Given the description of an element on the screen output the (x, y) to click on. 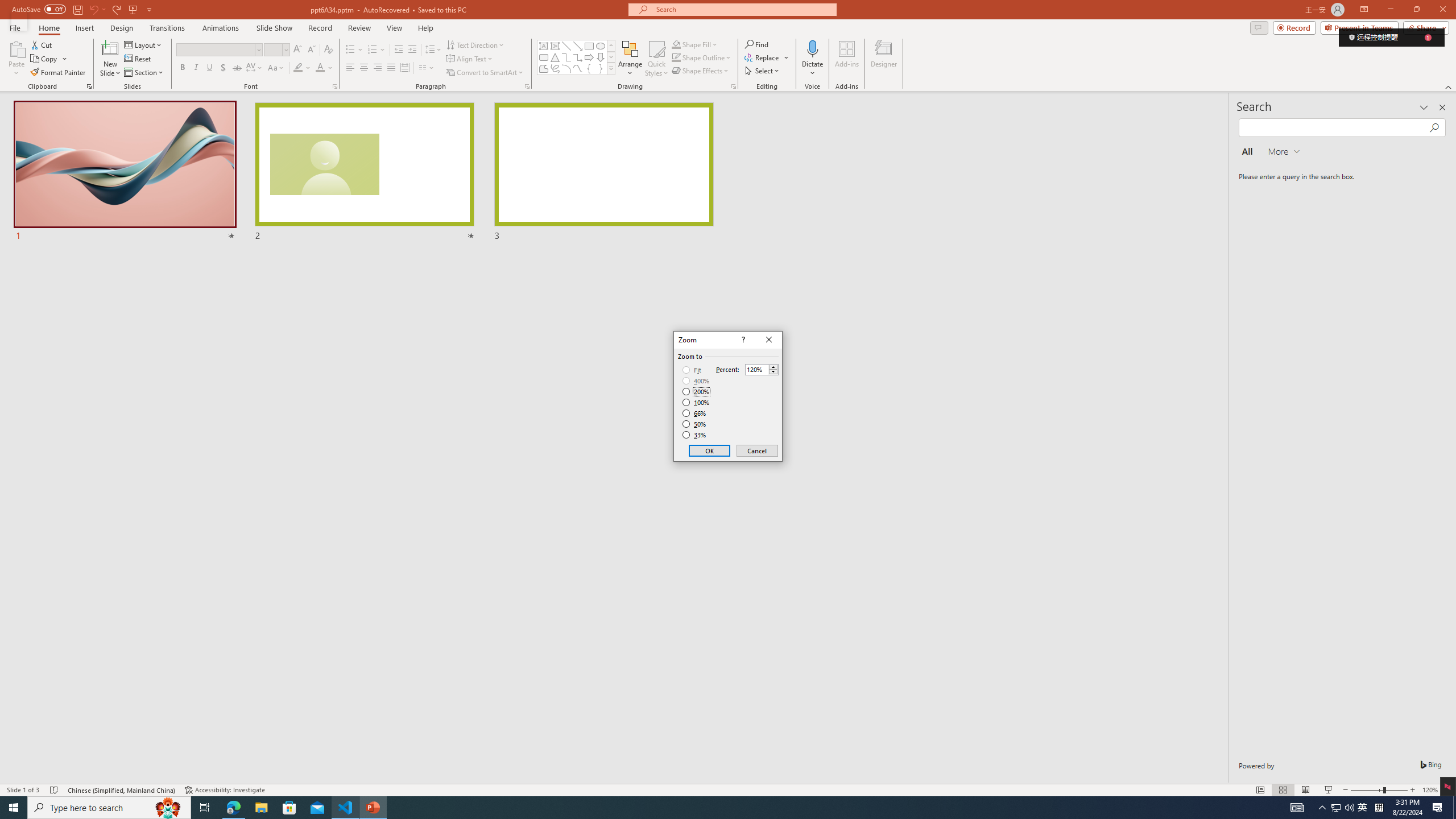
Align Left (349, 67)
Microsoft search (742, 9)
Character Spacing (254, 67)
Clear Formatting (327, 49)
Text Highlight Color (302, 67)
Distributed (404, 67)
Start (13, 807)
Task View (204, 807)
Running applications (707, 807)
Left Brace (589, 68)
